Given the description of an element on the screen output the (x, y) to click on. 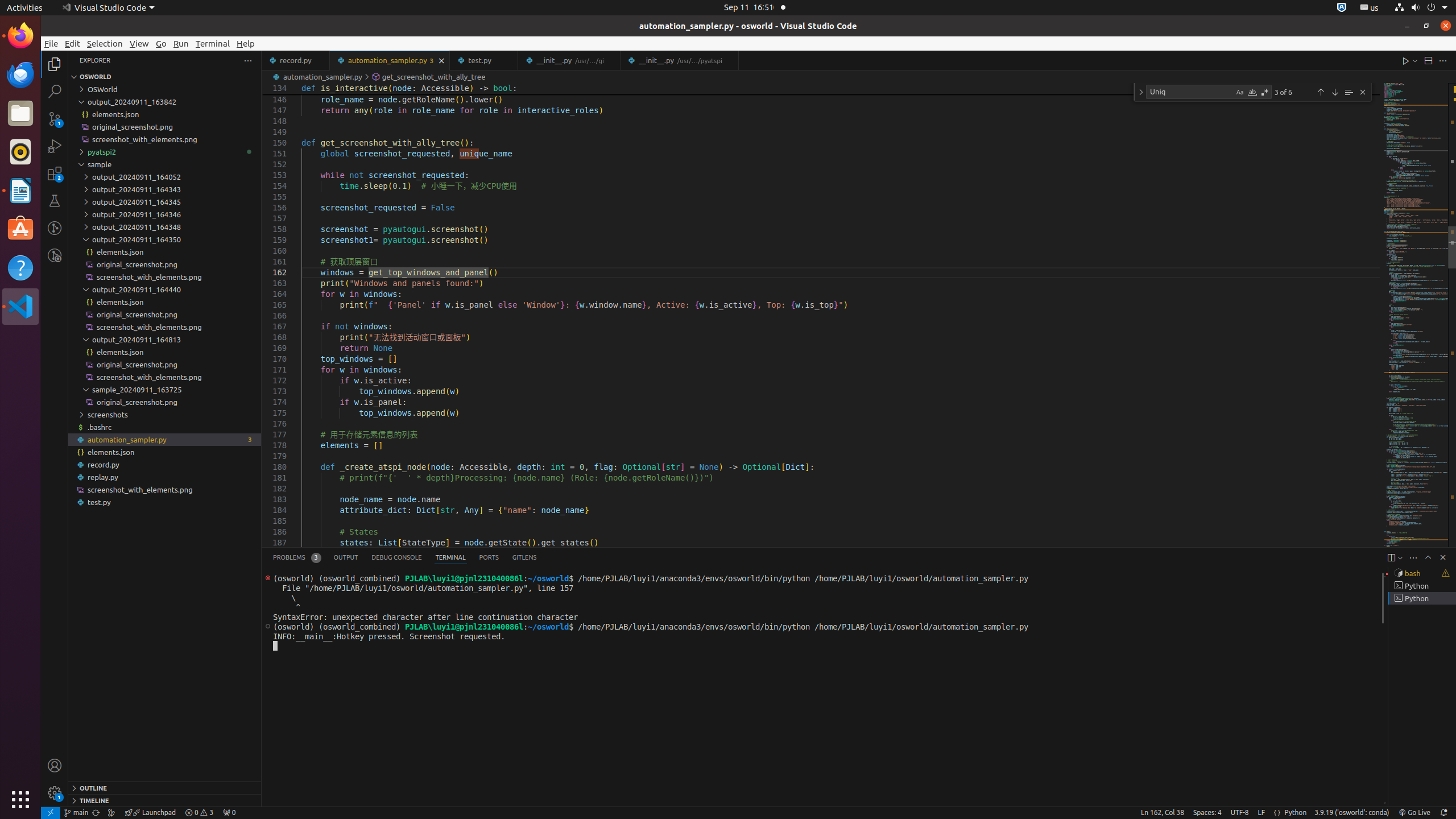
output_20240911_164348 Element type: tree-item (164, 226)
output_20240911_164343 Element type: tree-item (164, 189)
View Element type: push-button (139, 43)
OSWorld Element type: tree-item (164, 89)
automation_sampler.py Element type: tree-item (164, 439)
